Given the description of an element on the screen output the (x, y) to click on. 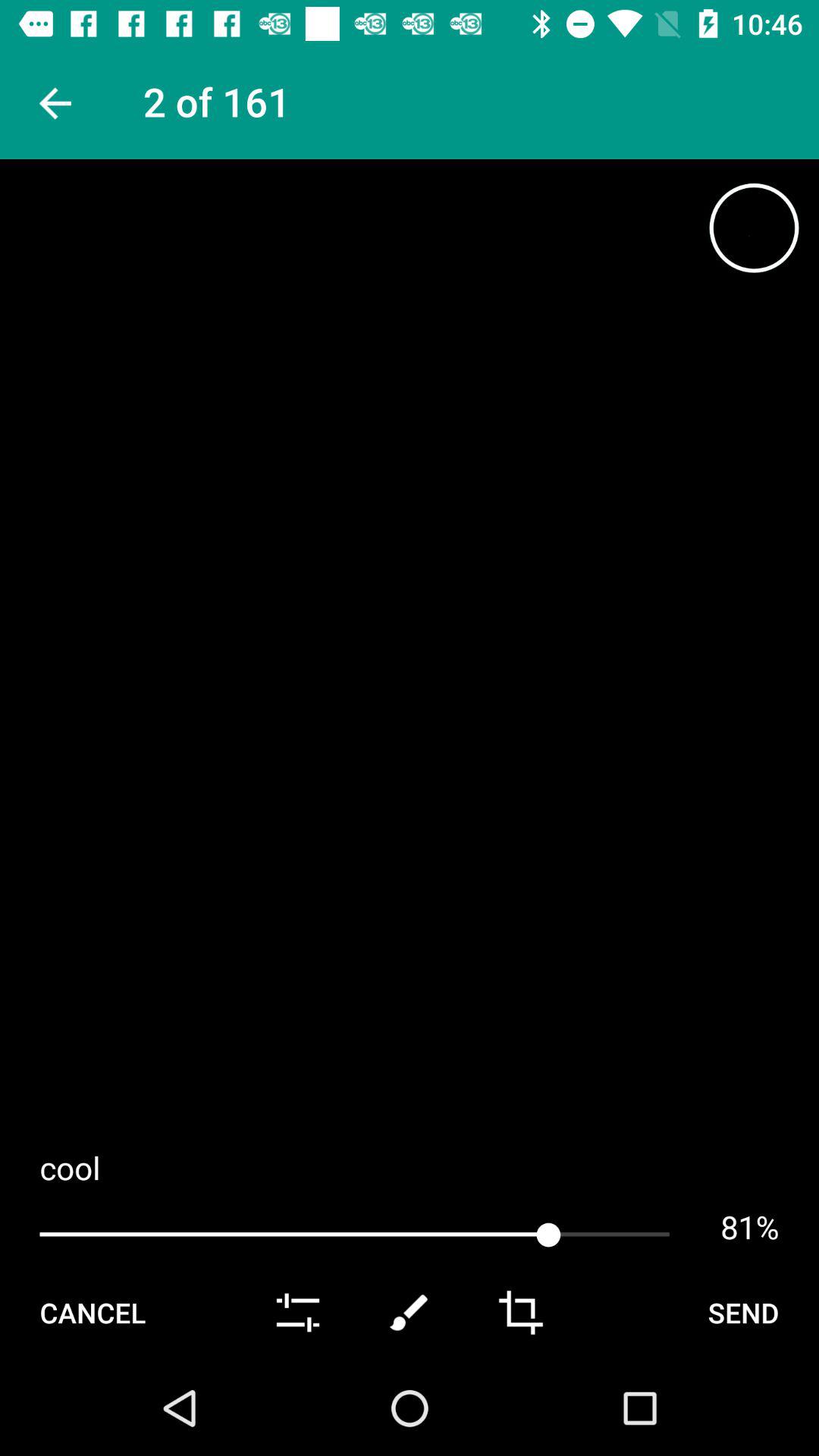
launch the icon at the top left corner (53, 103)
